Given the description of an element on the screen output the (x, y) to click on. 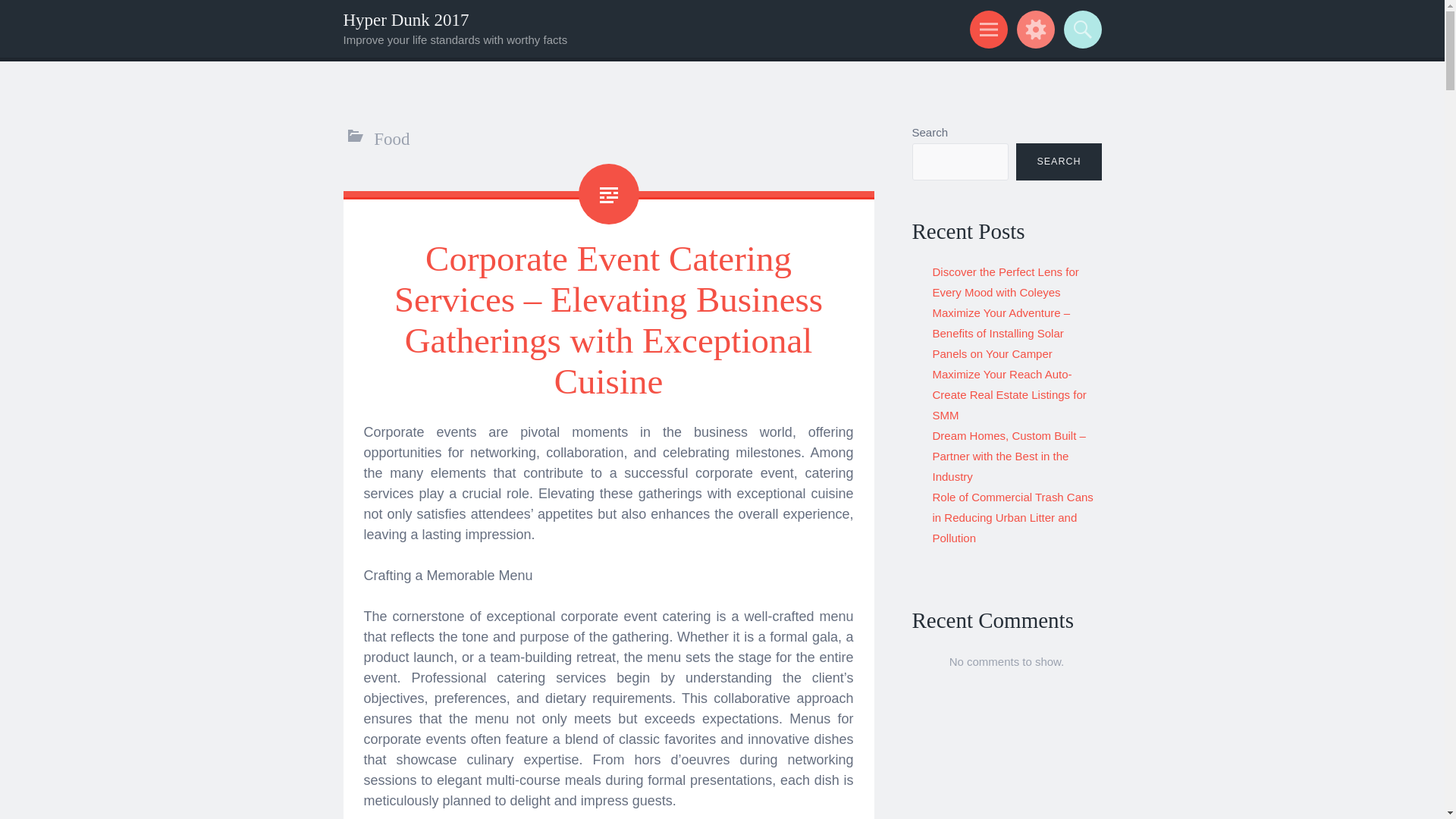
Widgets (1032, 29)
Search (1080, 29)
Hyper Dunk 2017 (405, 19)
Menu (985, 29)
